Given the description of an element on the screen output the (x, y) to click on. 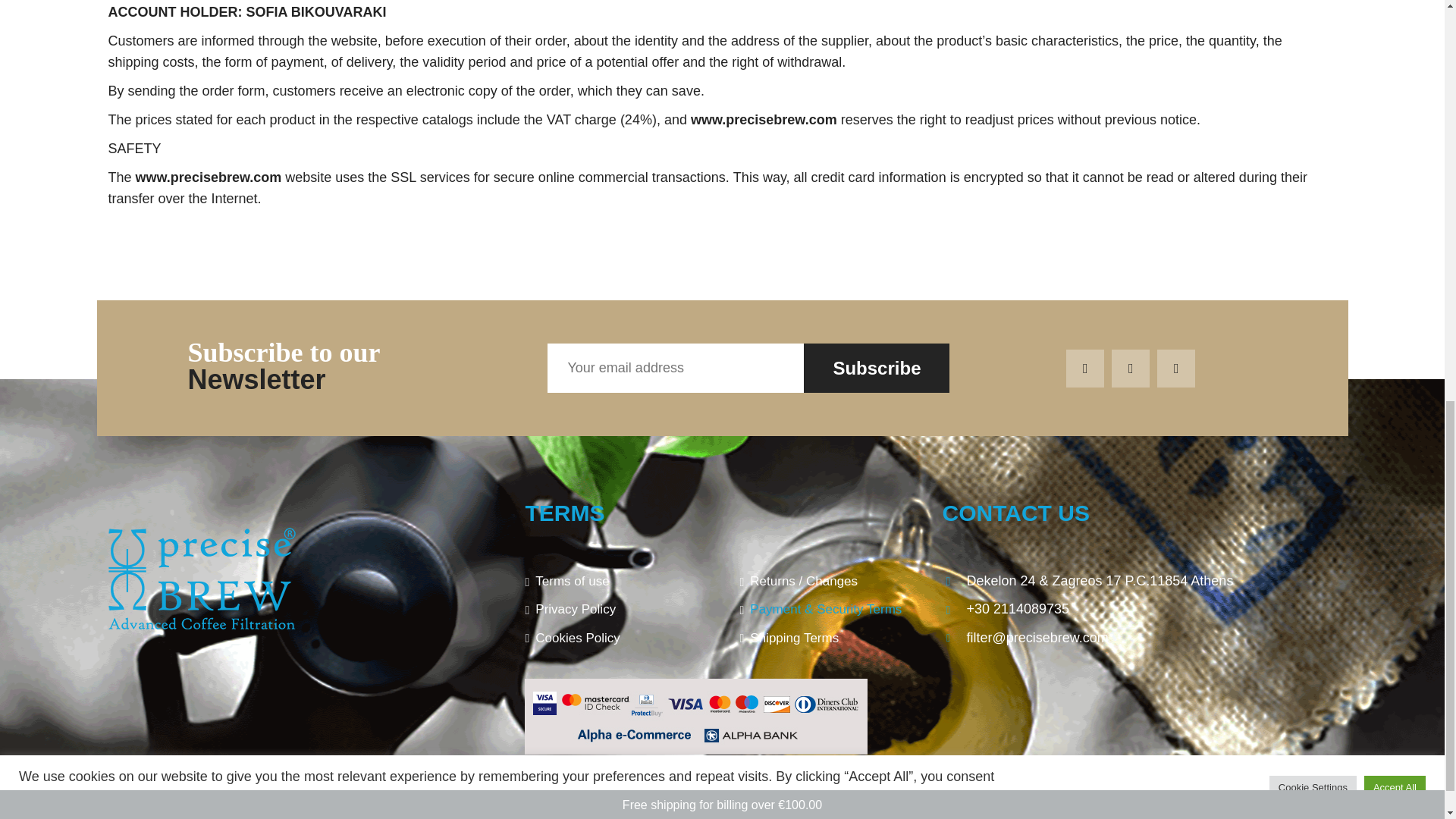
Subscribe (876, 368)
Terms of use (614, 584)
Cookies Policy (614, 642)
Privacy Policy (614, 612)
TOP (1328, 814)
Shipping Terms (828, 642)
